Given the description of an element on the screen output the (x, y) to click on. 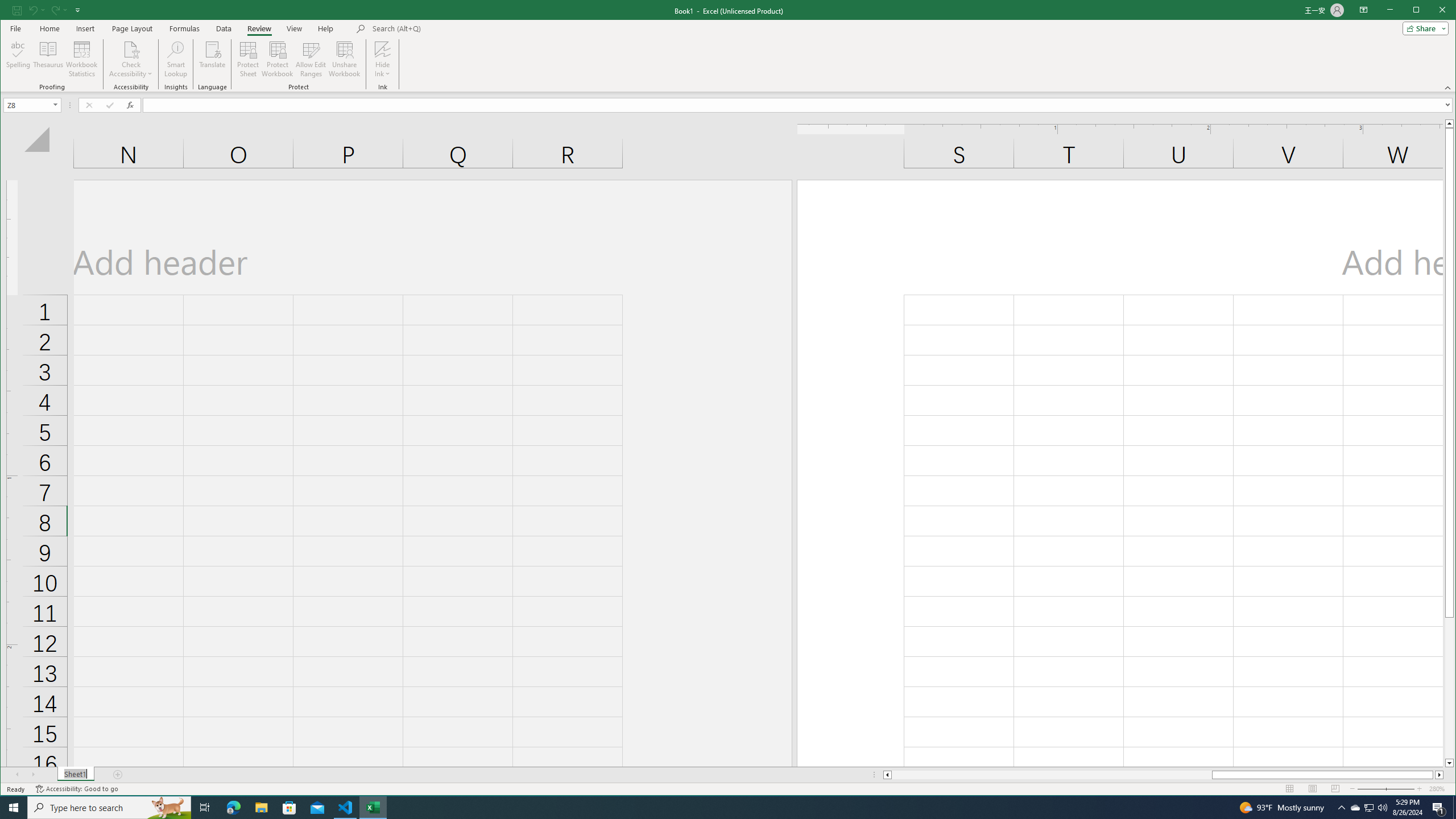
Allow Edit Ranges (310, 59)
Unshare Workbook (344, 59)
Workbook Statistics (82, 59)
Sheet Tab (75, 774)
